Given the description of an element on the screen output the (x, y) to click on. 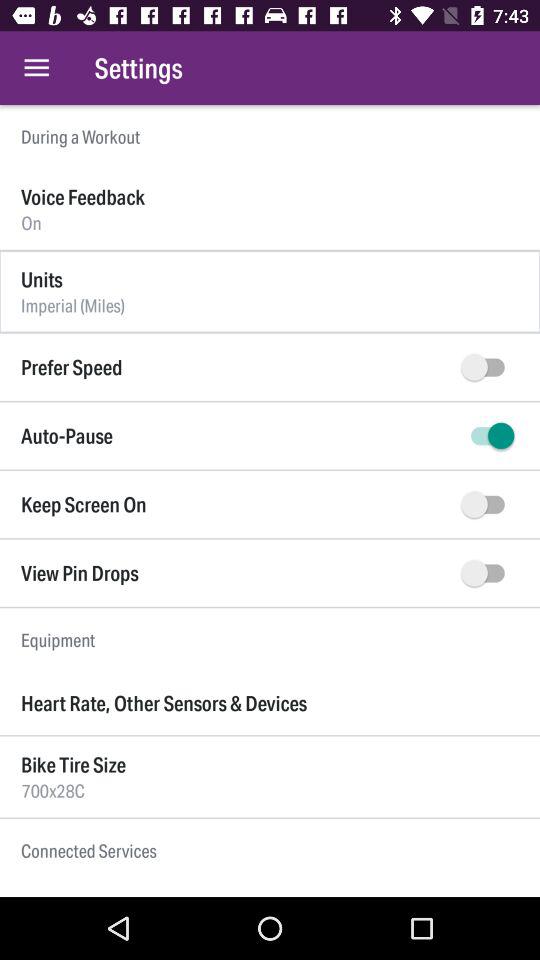
auto-pause on (487, 435)
